Given the description of an element on the screen output the (x, y) to click on. 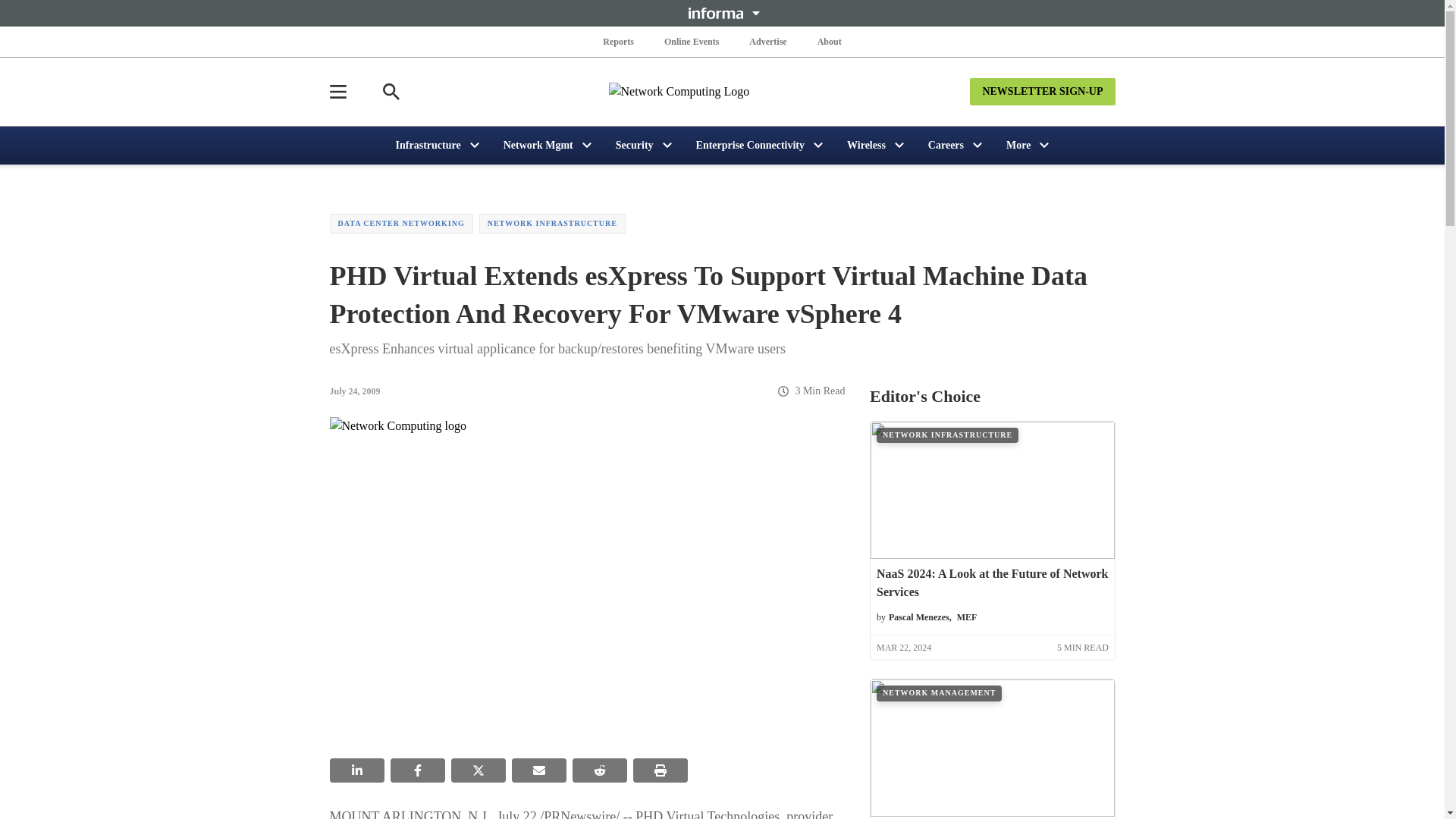
Online Events (691, 41)
NEWSLETTER SIGN-UP (1042, 90)
Advertise (767, 41)
Network Computing Logo (721, 91)
About (828, 41)
Reports (618, 41)
